Given the description of an element on the screen output the (x, y) to click on. 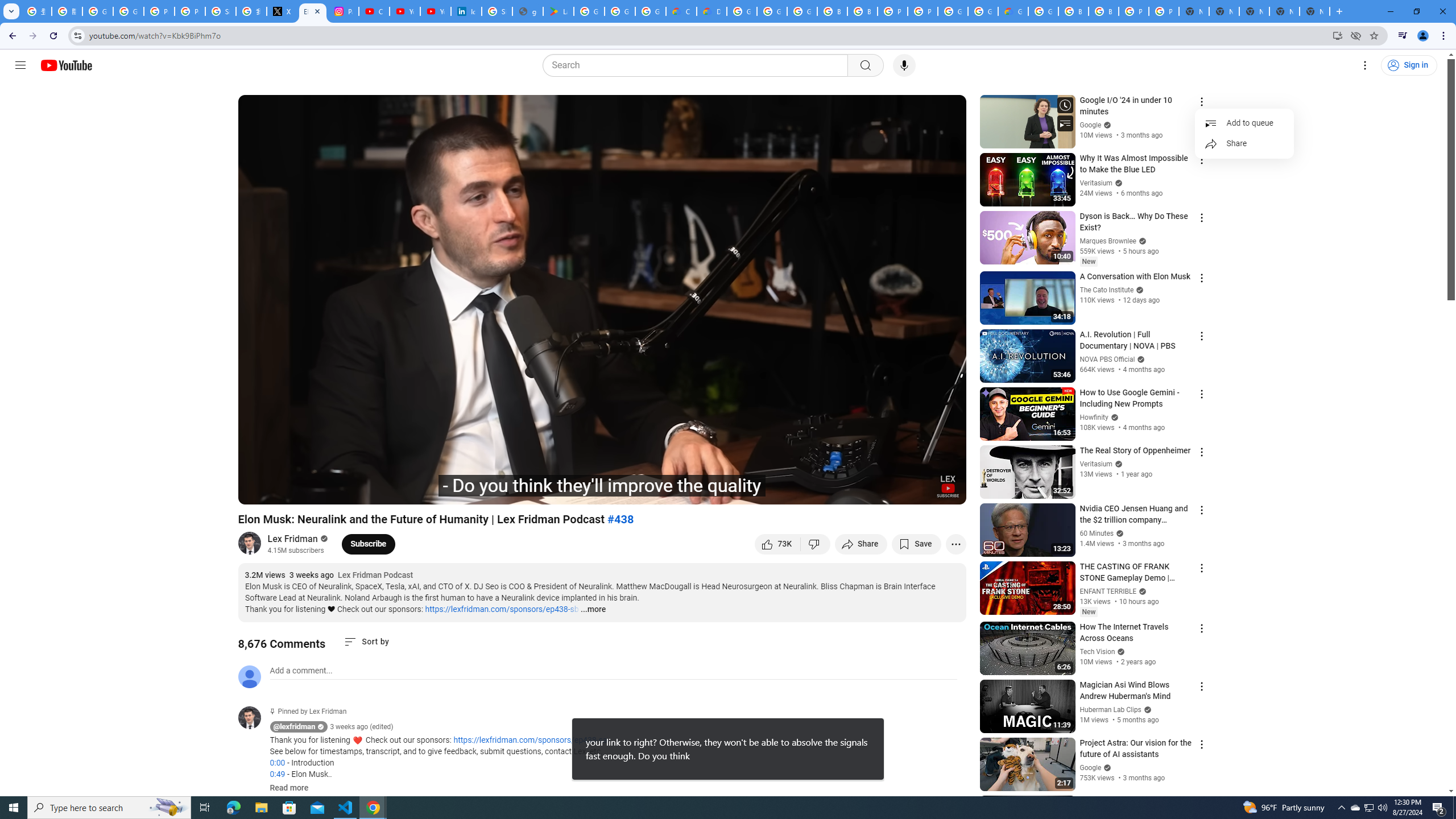
Channel watermark (947, 486)
Read more (288, 787)
AutomationID: simplebox-placeholder (301, 670)
Google Cloud Platform (1042, 11)
Browse Chrome as a guest - Computer - Google Chrome Help (832, 11)
Sort comments (366, 641)
Autoplay is on (808, 490)
Miniplayer (i) (890, 490)
